Given the description of an element on the screen output the (x, y) to click on. 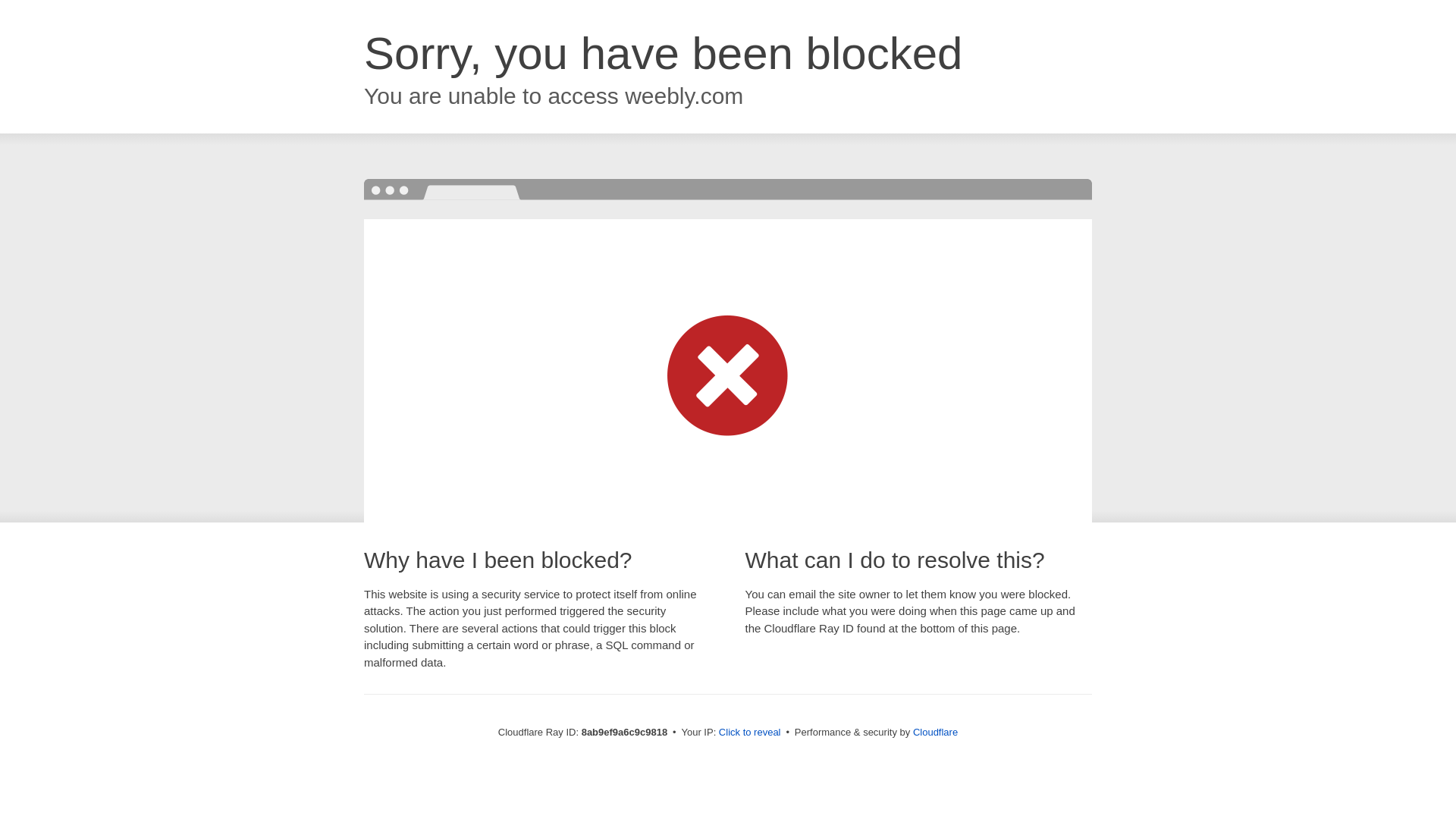
Cloudflare (935, 731)
Click to reveal (749, 732)
